Given the description of an element on the screen output the (x, y) to click on. 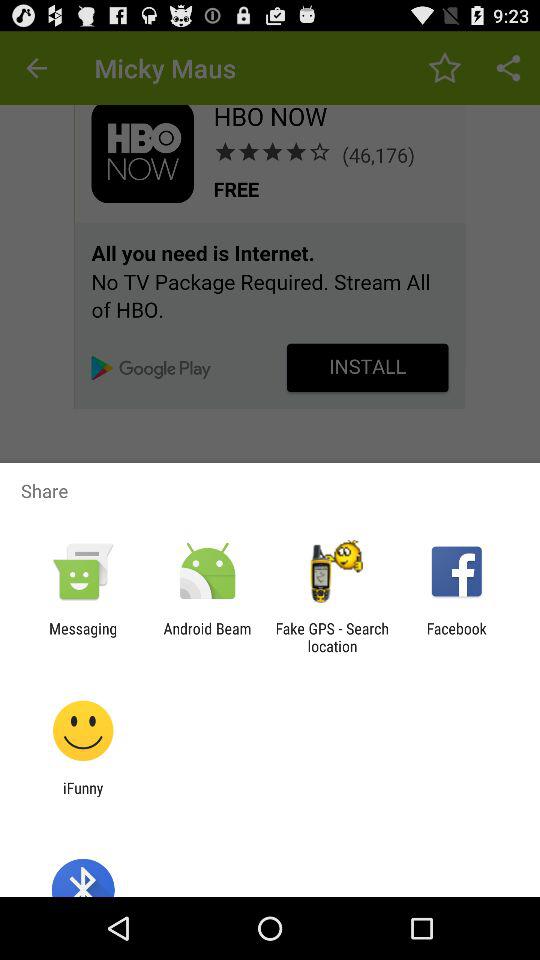
turn on app next to fake gps search icon (207, 637)
